Given the description of an element on the screen output the (x, y) to click on. 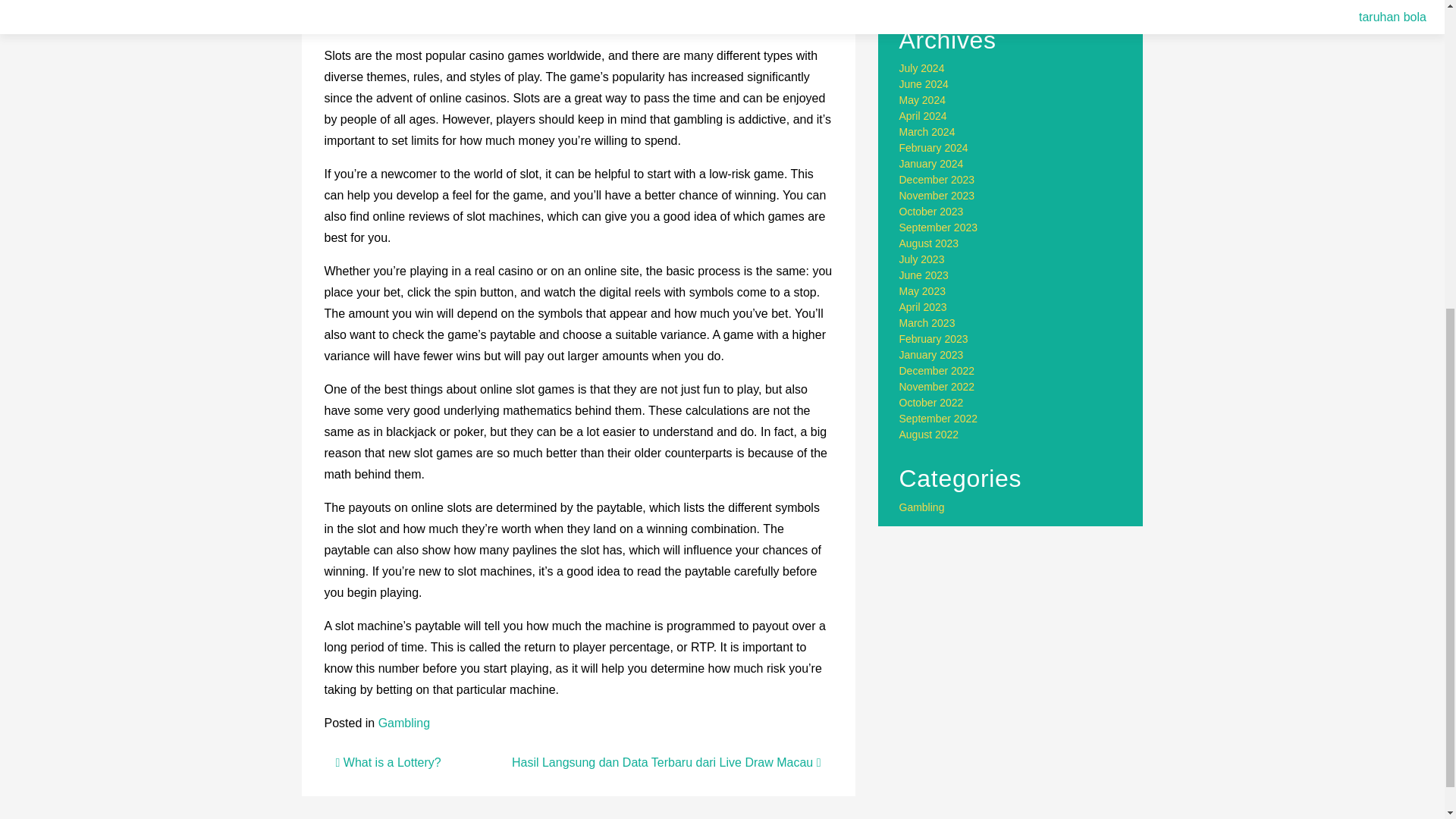
Hasil Langsung dan Data Terbaru dari Live Draw Macau  (666, 762)
 What is a Lottery? (387, 762)
April 2024 (923, 115)
Gambling (403, 722)
October 2022 (931, 402)
May 2023 (921, 291)
January 2023 (931, 354)
August 2023 (929, 243)
July 2024 (921, 68)
What Is a Sportsbook? (953, 1)
January 2024 (931, 163)
February 2023 (933, 338)
March 2024 (927, 132)
December 2023 (937, 179)
February 2024 (933, 147)
